Given the description of an element on the screen output the (x, y) to click on. 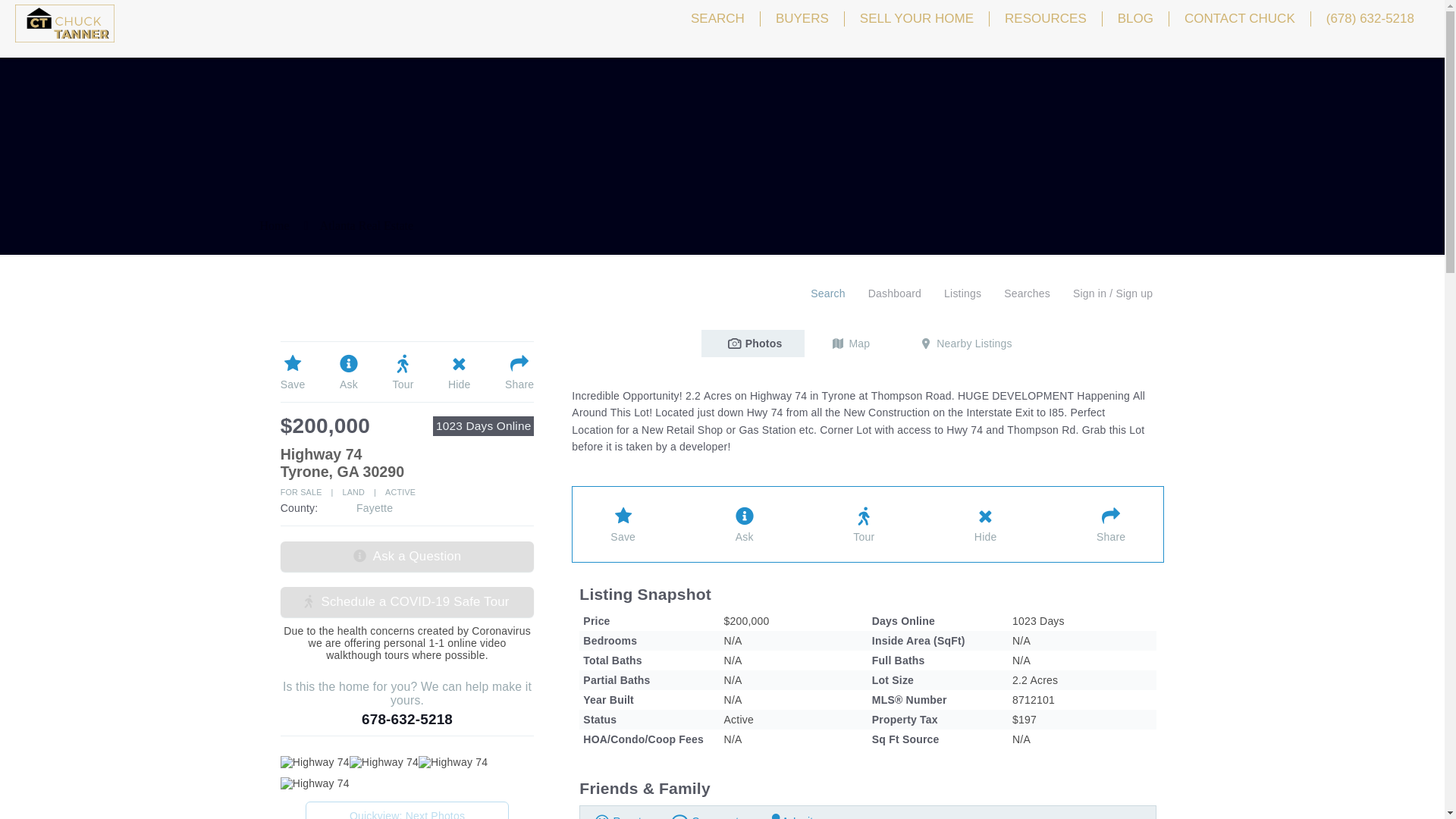
Listings (962, 294)
Searches (1026, 294)
BLOG (1135, 18)
Ask a Question (407, 556)
Atlanta Real Estate (366, 225)
SEARCH (717, 18)
Home (273, 225)
Chuck Tanner Sells Homes (64, 22)
CONTACT CHUCK (1240, 18)
Schedule a COVID-19 Safe Tour (407, 602)
678-632-5218 (406, 719)
RESOURCES (1046, 18)
Dashboard (895, 294)
SELL YOUR HOME (917, 18)
Search (828, 294)
